Given the description of an element on the screen output the (x, y) to click on. 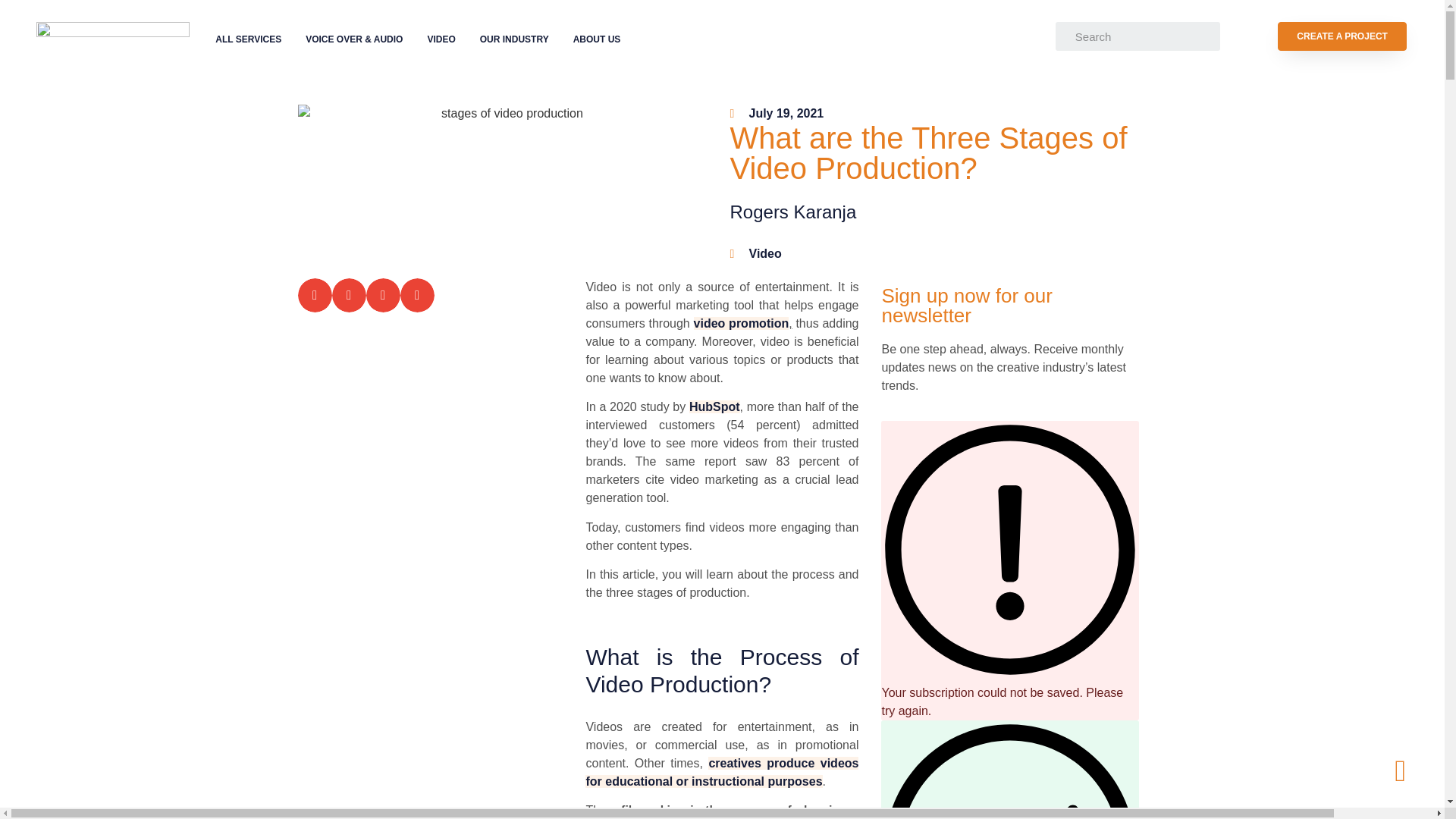
OUR INDUSTRY (513, 39)
ABOUT US (596, 39)
ALL SERVICES (248, 39)
VIDEO (440, 39)
